Given the description of an element on the screen output the (x, y) to click on. 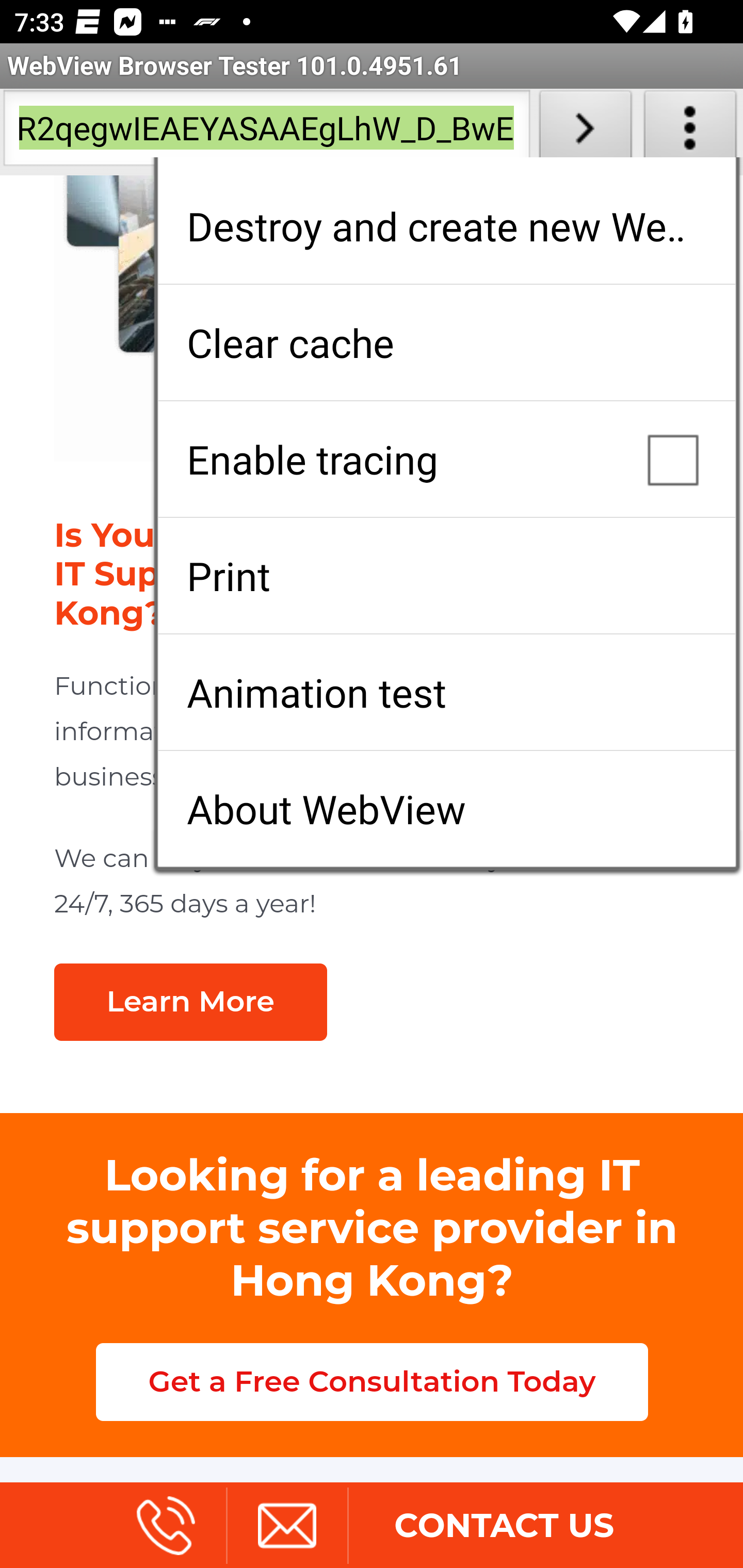
Destroy and create new WebView (446, 225)
Clear cache (446, 342)
Enable tracing (446, 459)
Print (446, 575)
Animation test (446, 692)
About WebView (446, 809)
